Given the description of an element on the screen output the (x, y) to click on. 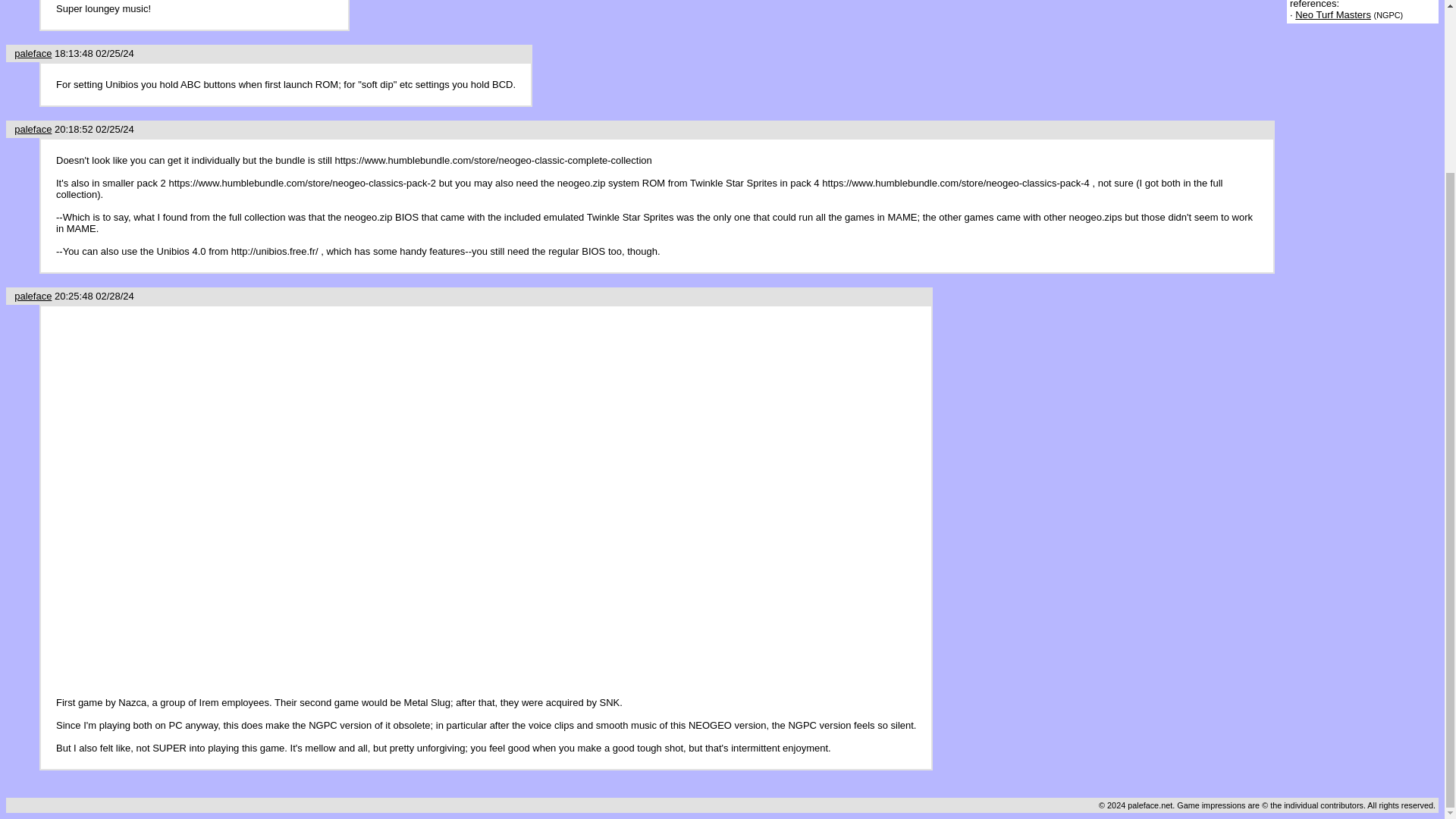
Neo Turf Masters (1333, 14)
paleface (32, 129)
paleface (32, 296)
paleface (32, 52)
